Given the description of an element on the screen output the (x, y) to click on. 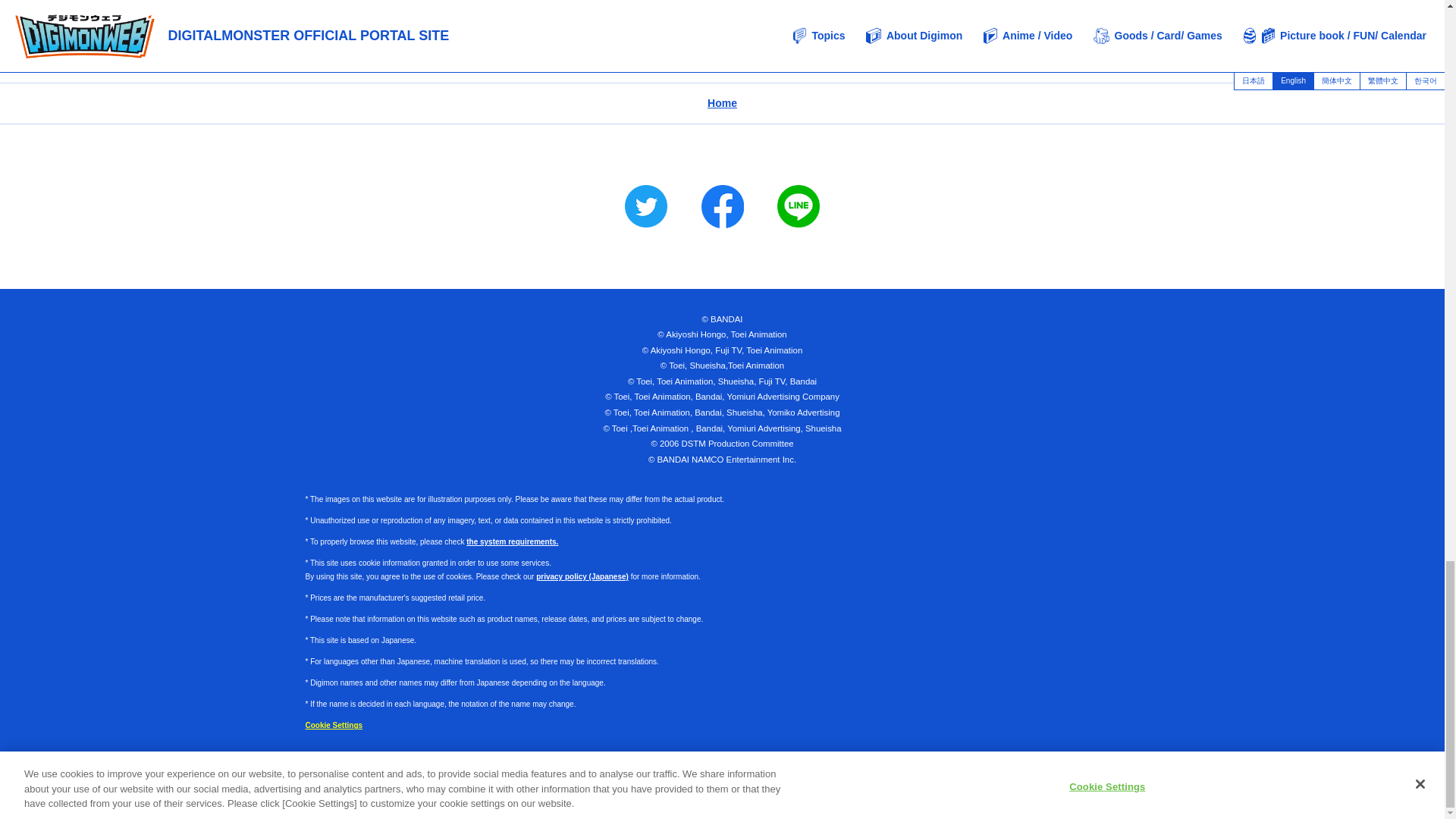
Privacy policy (796, 762)
Contact Us (869, 762)
Digimon Journal (930, 22)
Website terms and conditions (514, 22)
Cookie Settings (593, 762)
Social media policy (333, 725)
the system requirements. (709, 762)
Home (511, 541)
